Given the description of an element on the screen output the (x, y) to click on. 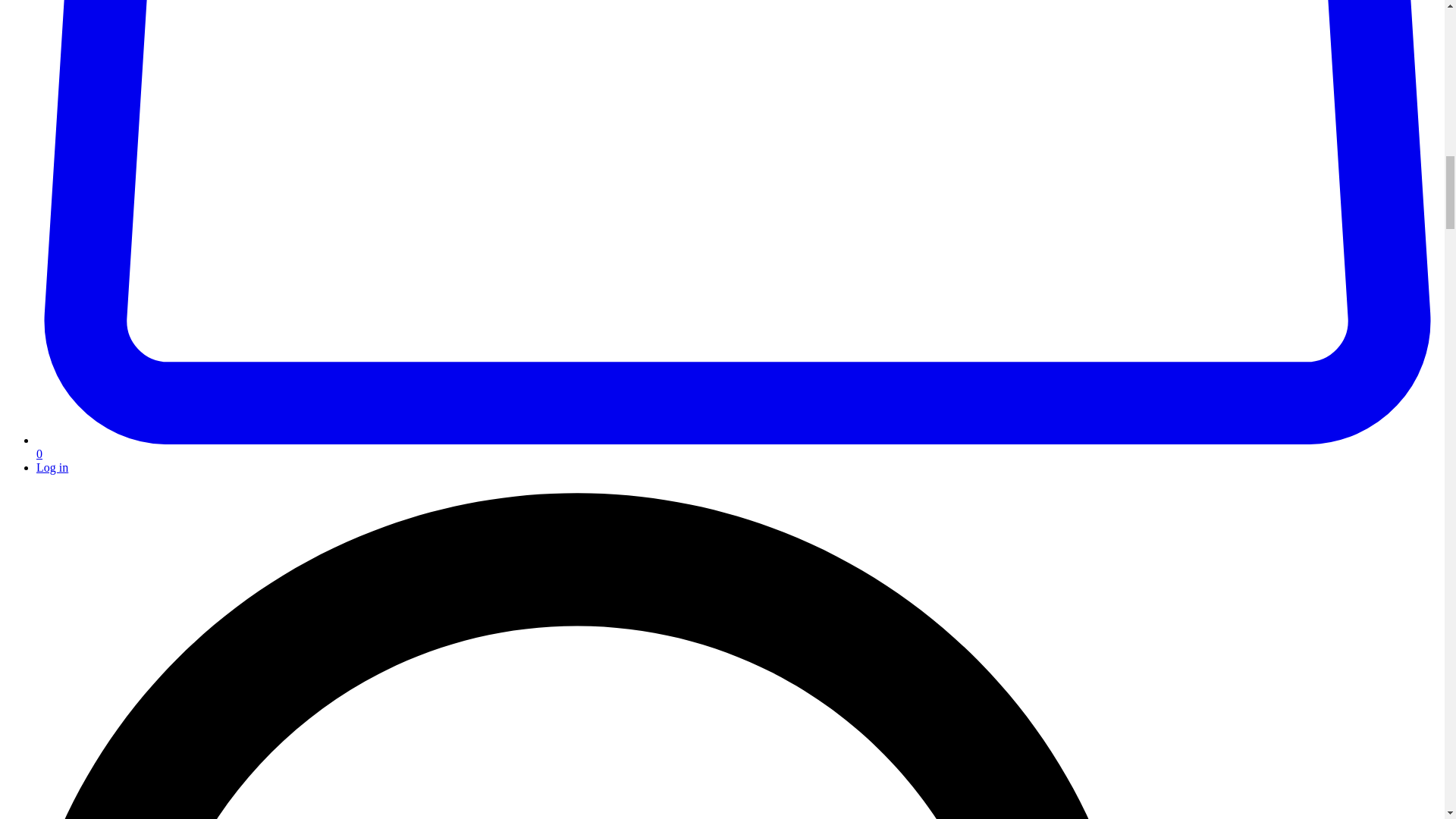
Log in (52, 467)
